Given the description of an element on the screen output the (x, y) to click on. 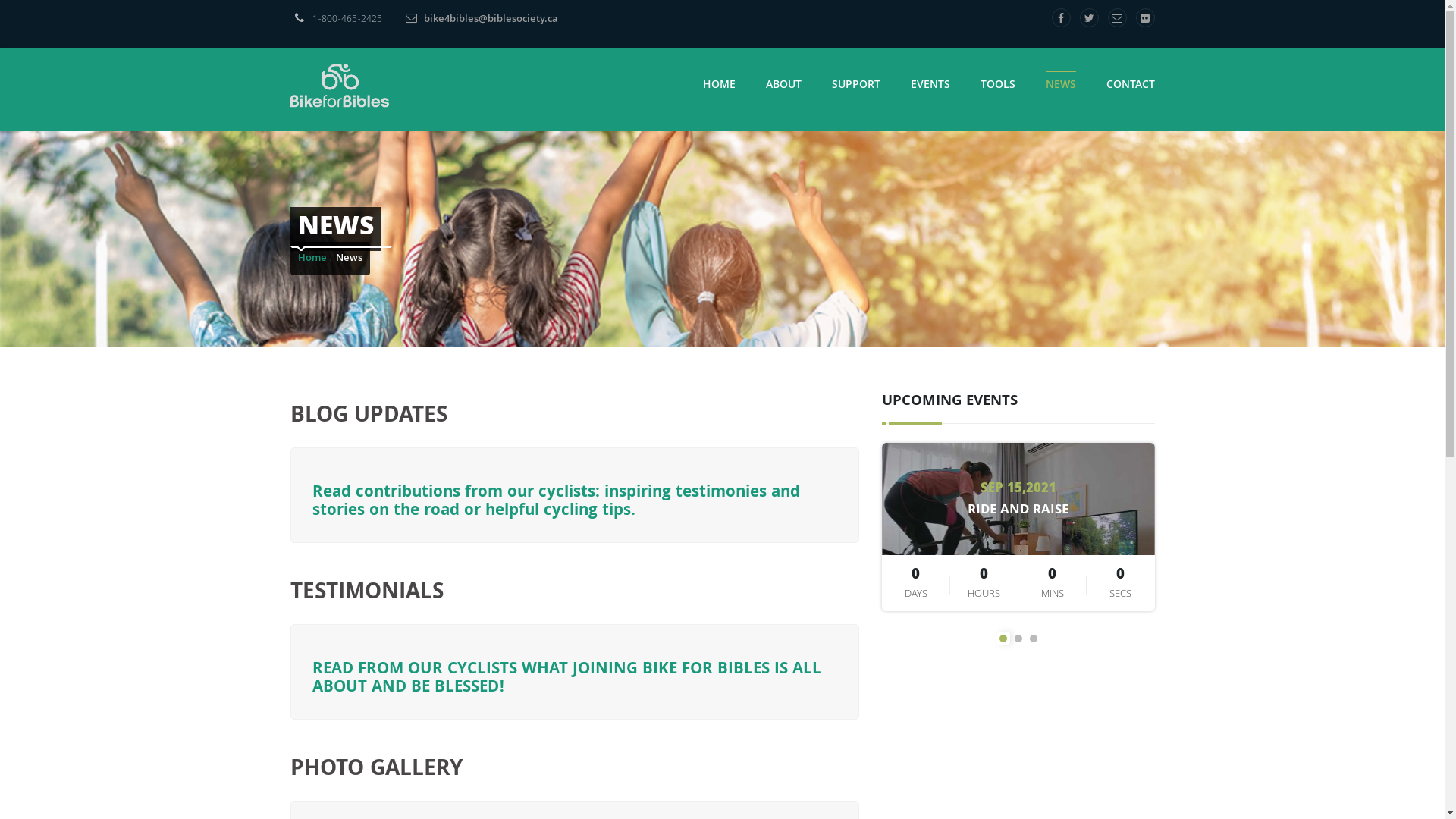
ABOUT Element type: text (783, 85)
NEWS Element type: text (1059, 85)
TOOLS Element type: text (996, 85)
Home Element type: text (311, 258)
CONTACT Element type: text (1129, 85)
Bike4bible Element type: hover (338, 84)
HOME Element type: text (718, 85)
1 Element type: text (1003, 638)
2 Element type: text (1018, 638)
SUPPORT Element type: text (855, 85)
bike4bibles@biblesociety.ca Element type: text (472, 20)
News Element type: text (348, 258)
EVENTS Element type: text (929, 85)
3 Element type: text (1033, 638)
